Given the description of an element on the screen output the (x, y) to click on. 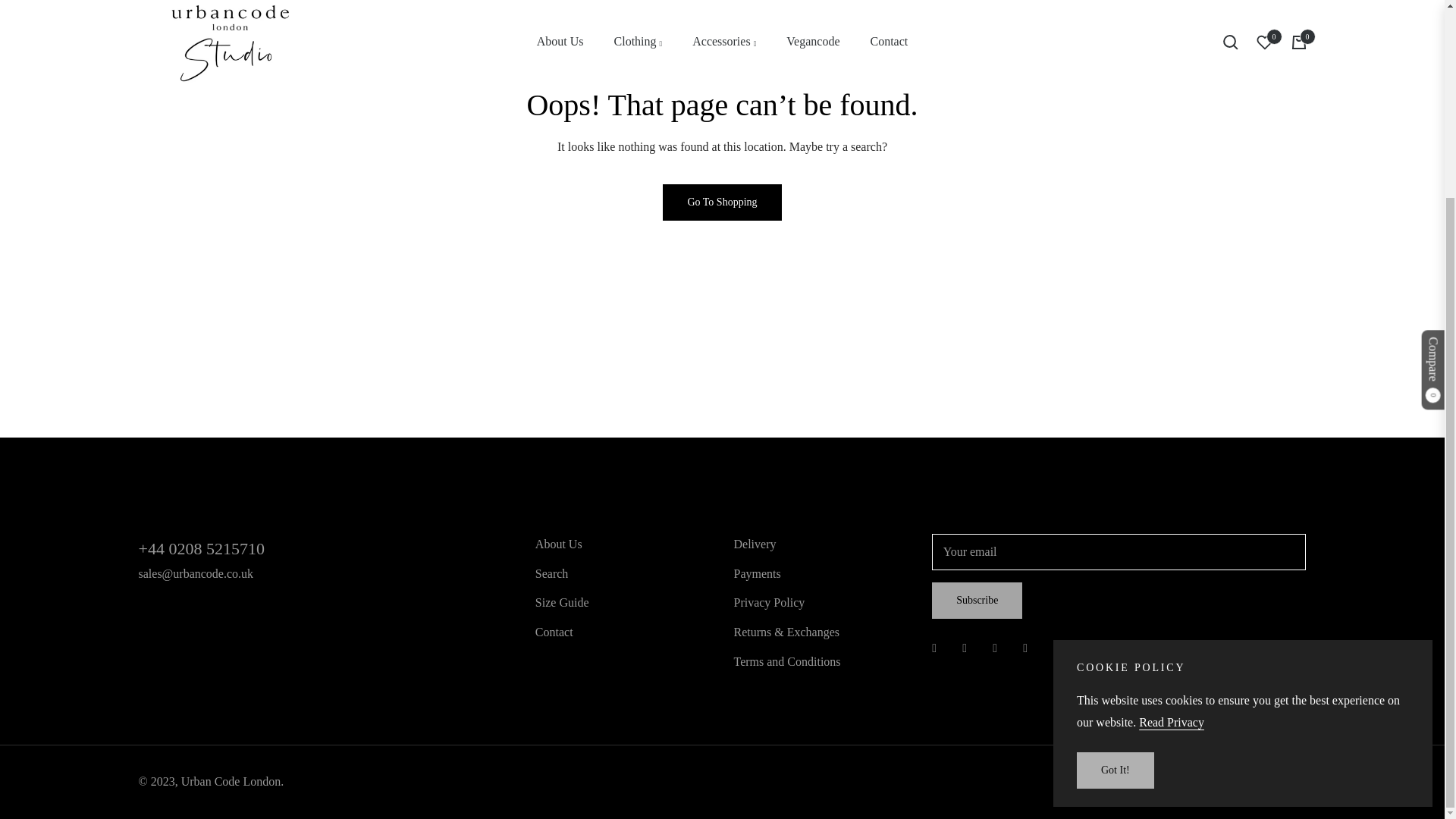
Search (552, 573)
Read Privacy (1171, 471)
Payments (756, 573)
Delivery (754, 543)
Size Guide (562, 602)
Privacy Policy (769, 602)
Contact (554, 631)
About Us (558, 543)
Go To Shopping (721, 202)
